Given the description of an element on the screen output the (x, y) to click on. 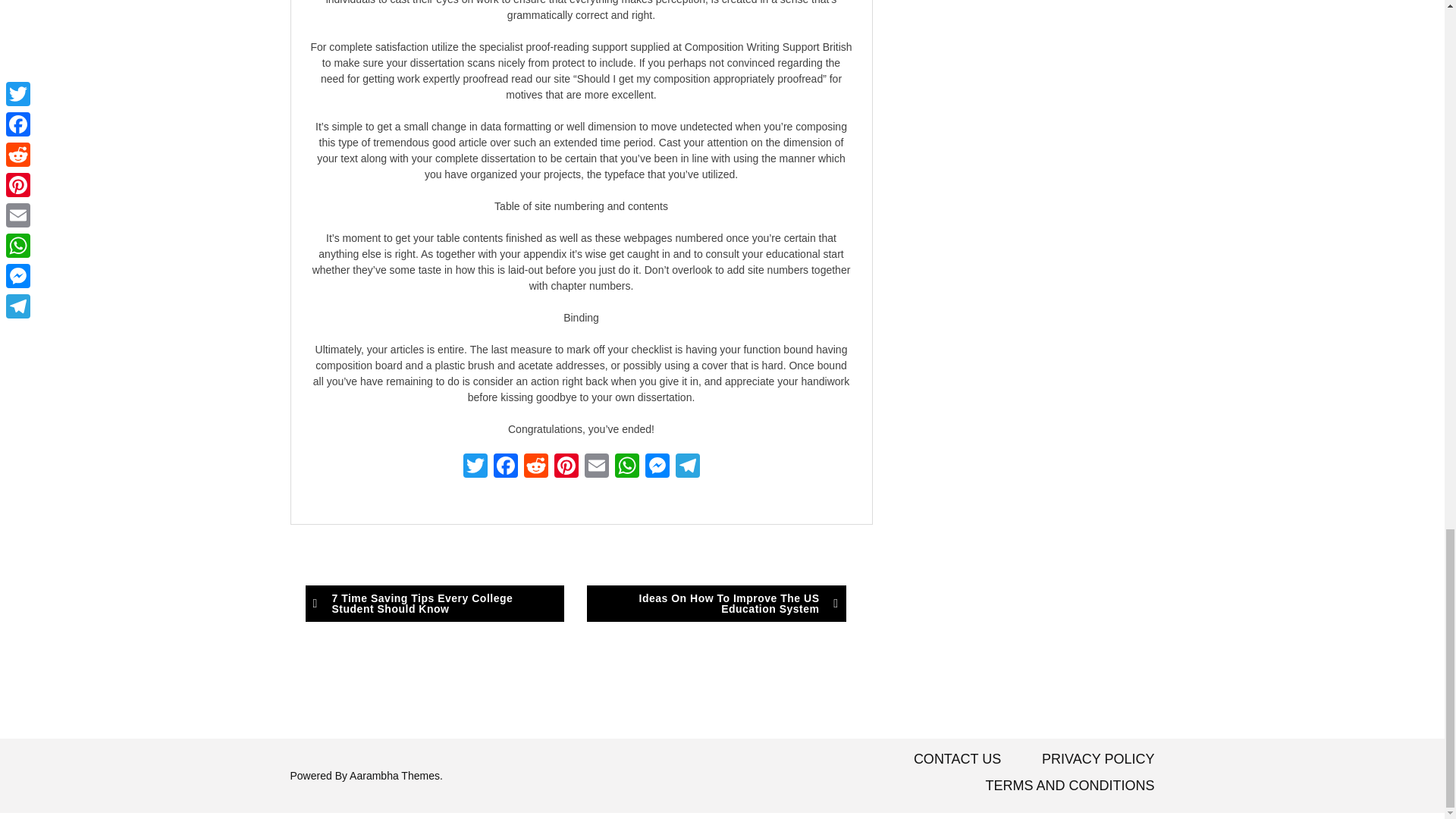
Pinterest (565, 467)
Telegram (686, 467)
Messenger (656, 467)
Pinterest (565, 467)
CONTACT US (957, 758)
WhatsApp (626, 467)
PRIVACY POLICY (1098, 758)
Reddit (534, 467)
Twitter (474, 467)
Ideas On How To Improve The US Education System (715, 603)
Twitter (474, 467)
Telegram (686, 467)
TERMS AND CONDITIONS (1069, 785)
Messenger (656, 467)
Facebook (504, 467)
